Given the description of an element on the screen output the (x, y) to click on. 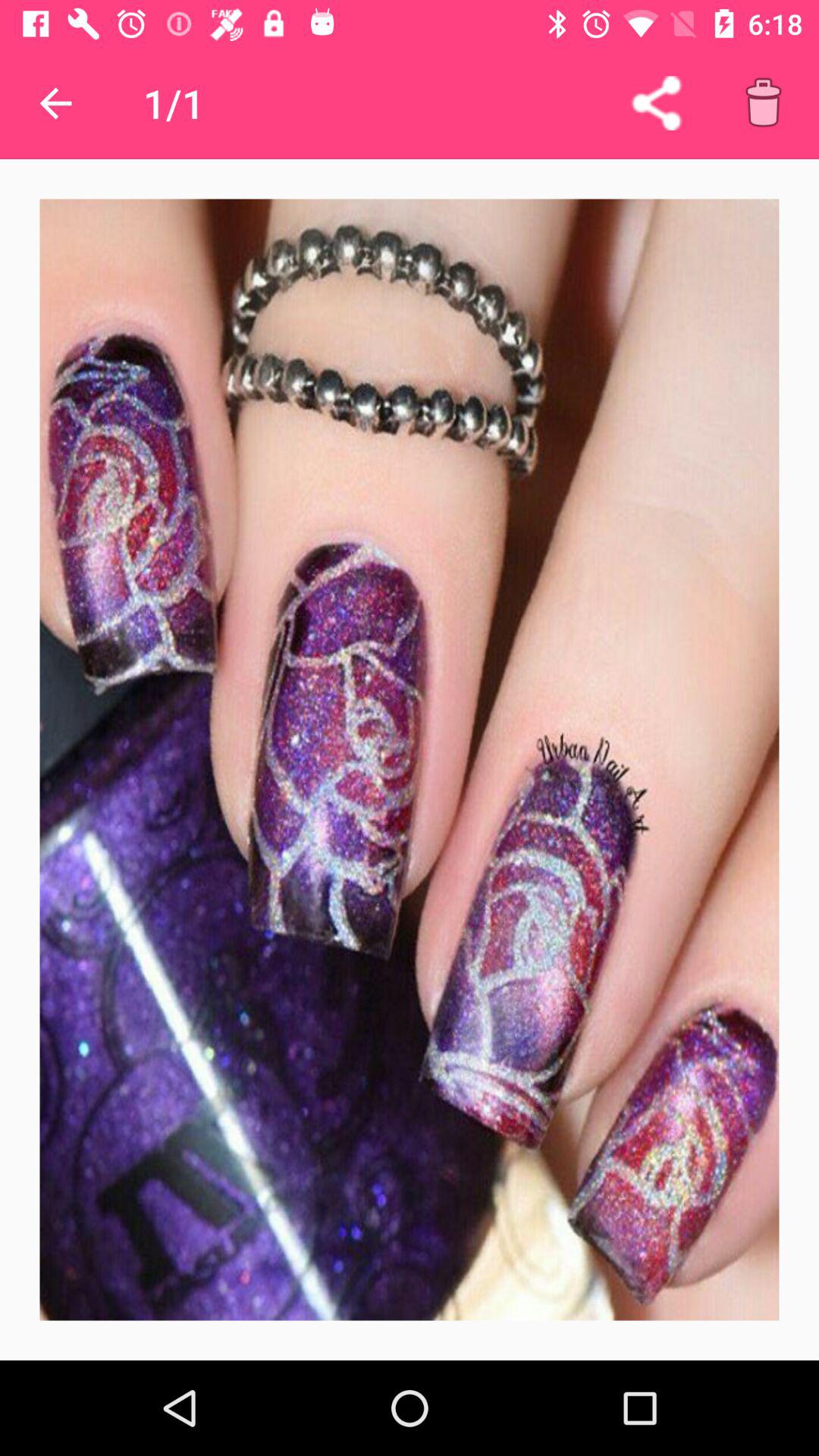
turn on the icon to the left of 1/1 item (55, 103)
